Given the description of an element on the screen output the (x, y) to click on. 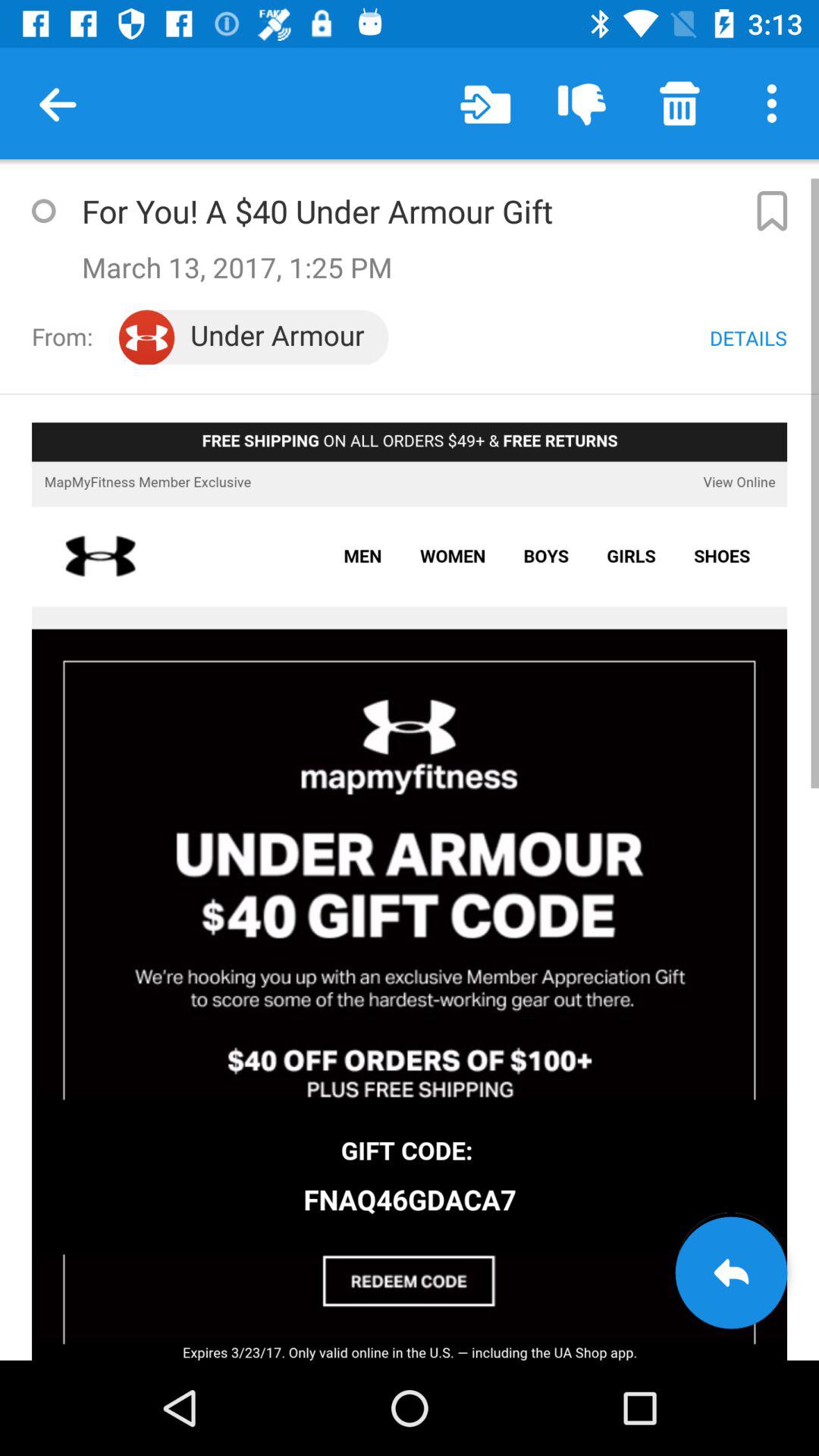
add to bookmarks (771, 210)
